Given the description of an element on the screen output the (x, y) to click on. 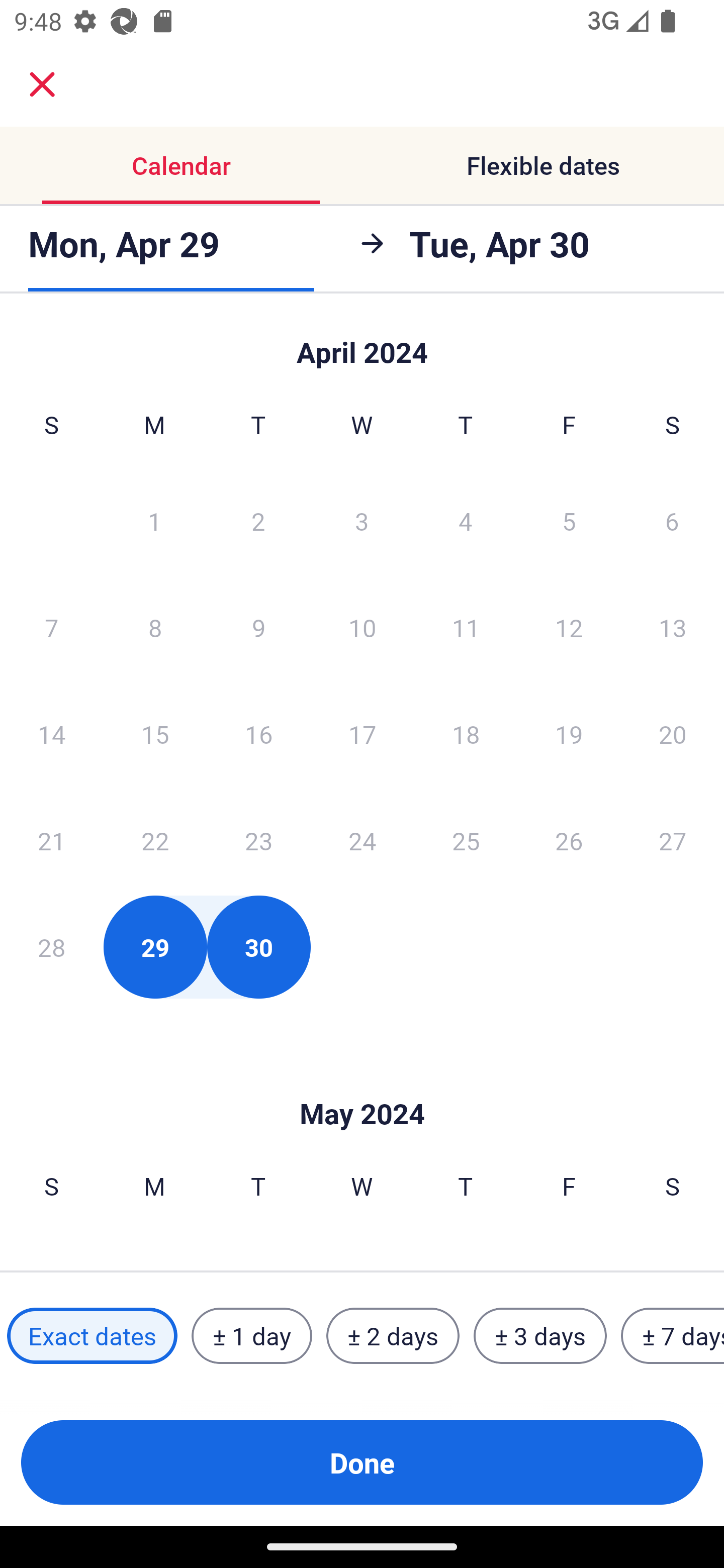
close. (42, 84)
Flexible dates (542, 164)
Skip to Done (362, 343)
1 Monday, April 1, 2024 (154, 520)
2 Tuesday, April 2, 2024 (257, 520)
3 Wednesday, April 3, 2024 (361, 520)
4 Thursday, April 4, 2024 (465, 520)
5 Friday, April 5, 2024 (568, 520)
6 Saturday, April 6, 2024 (672, 520)
7 Sunday, April 7, 2024 (51, 626)
8 Monday, April 8, 2024 (155, 626)
9 Tuesday, April 9, 2024 (258, 626)
10 Wednesday, April 10, 2024 (362, 626)
11 Thursday, April 11, 2024 (465, 626)
12 Friday, April 12, 2024 (569, 626)
13 Saturday, April 13, 2024 (672, 626)
14 Sunday, April 14, 2024 (51, 733)
15 Monday, April 15, 2024 (155, 733)
16 Tuesday, April 16, 2024 (258, 733)
17 Wednesday, April 17, 2024 (362, 733)
18 Thursday, April 18, 2024 (465, 733)
19 Friday, April 19, 2024 (569, 733)
20 Saturday, April 20, 2024 (672, 733)
21 Sunday, April 21, 2024 (51, 840)
22 Monday, April 22, 2024 (155, 840)
23 Tuesday, April 23, 2024 (258, 840)
24 Wednesday, April 24, 2024 (362, 840)
25 Thursday, April 25, 2024 (465, 840)
26 Friday, April 26, 2024 (569, 840)
27 Saturday, April 27, 2024 (672, 840)
28 Sunday, April 28, 2024 (51, 946)
Skip to Done (362, 1083)
Exact dates (92, 1335)
± 1 day (251, 1335)
± 2 days (392, 1335)
± 3 days (539, 1335)
± 7 days (672, 1335)
Done (361, 1462)
